Given the description of an element on the screen output the (x, y) to click on. 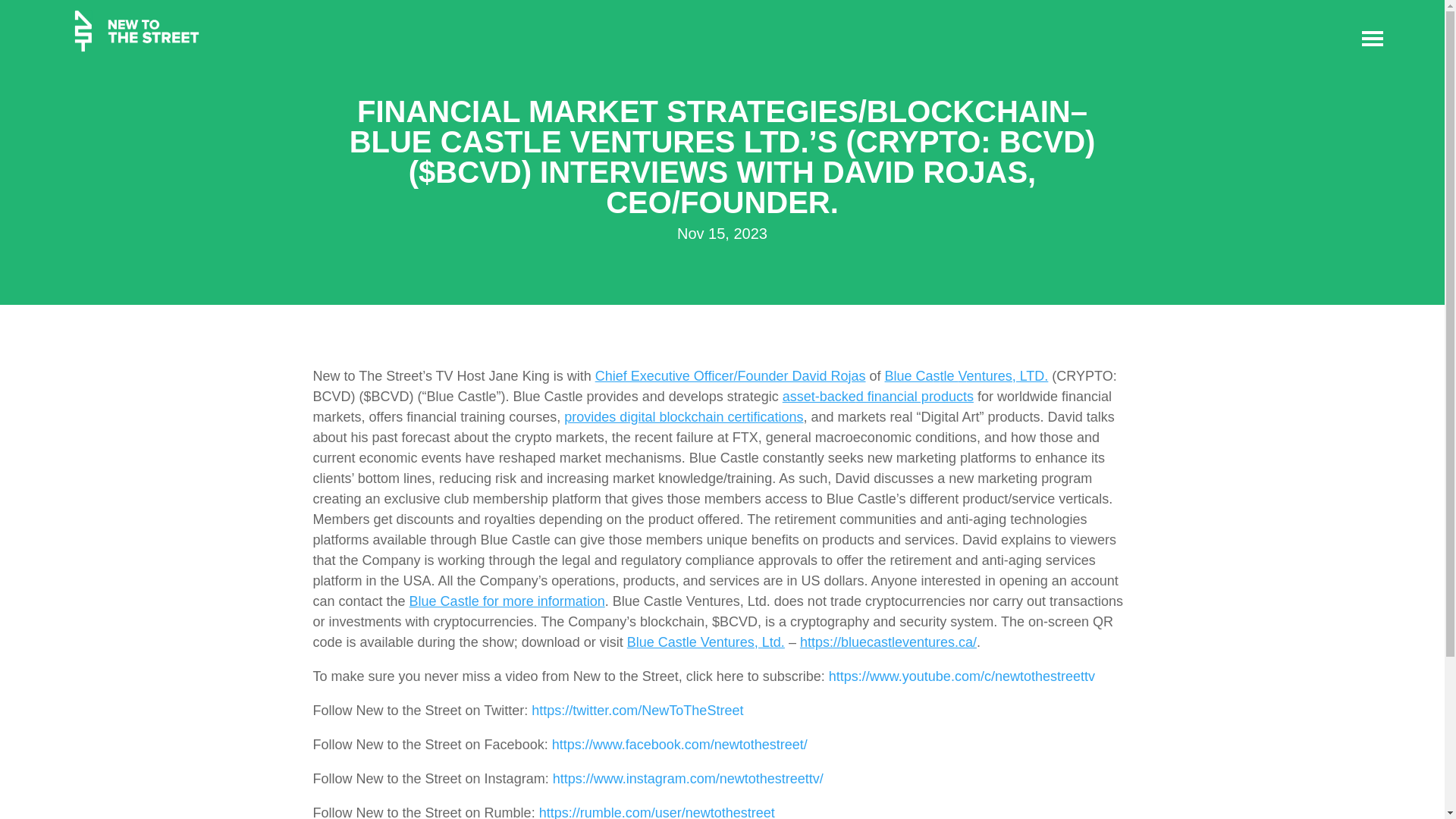
Blue Castle Ventures, LTD. (966, 376)
asset-backed financial products (878, 396)
Blue Castle Ventures, Ltd. (705, 642)
Blue Castle for more information (507, 601)
provides digital blockchain certifications (683, 417)
